Given the description of an element on the screen output the (x, y) to click on. 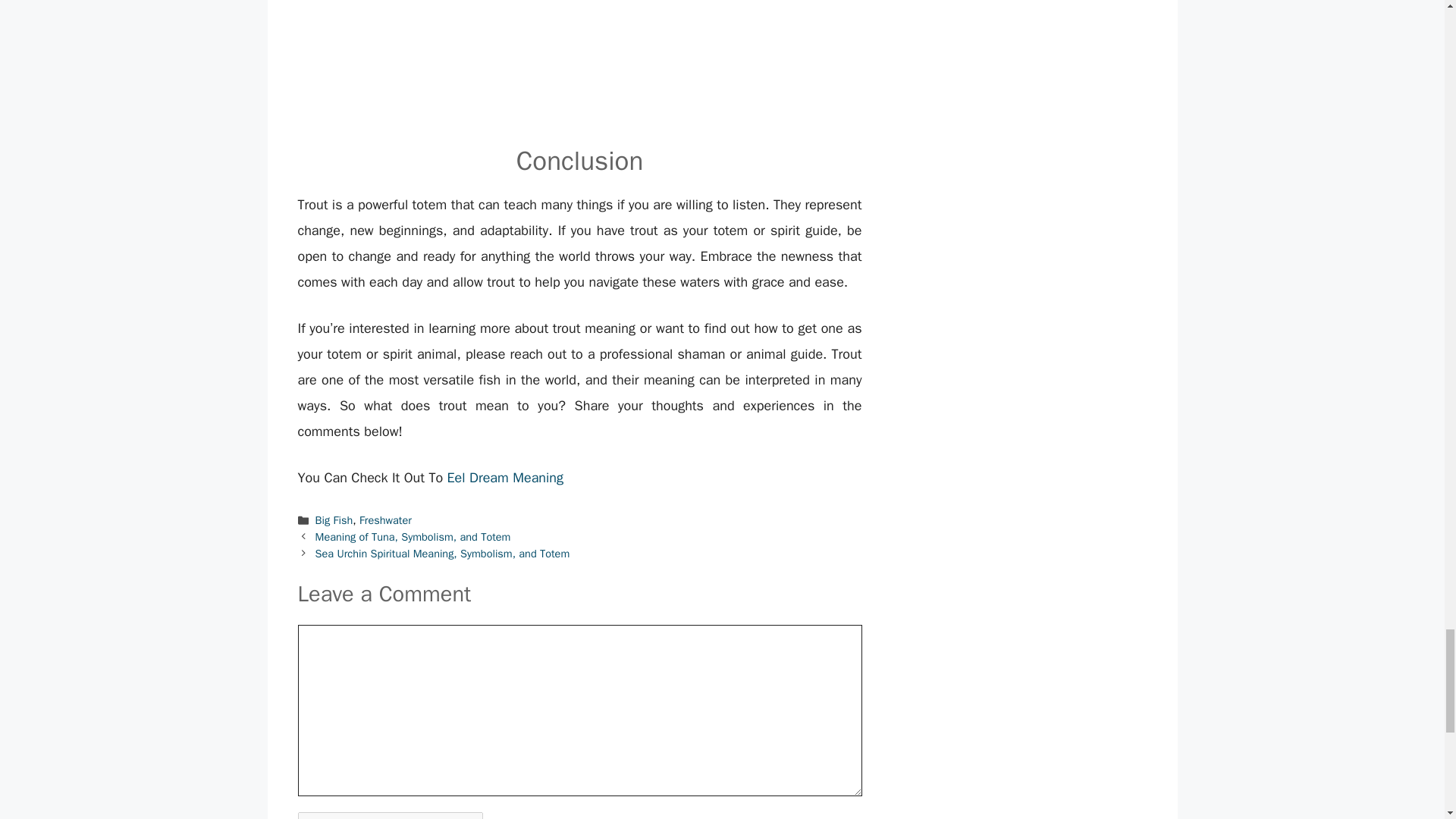
Eel Dream Meaning (505, 477)
Big Fish (334, 520)
Meaning of Tuna, Symbolism, and Totem (413, 536)
Freshwater (385, 520)
Sea Urchin Spiritual Meaning, Symbolism, and Totem (442, 553)
